Given the description of an element on the screen output the (x, y) to click on. 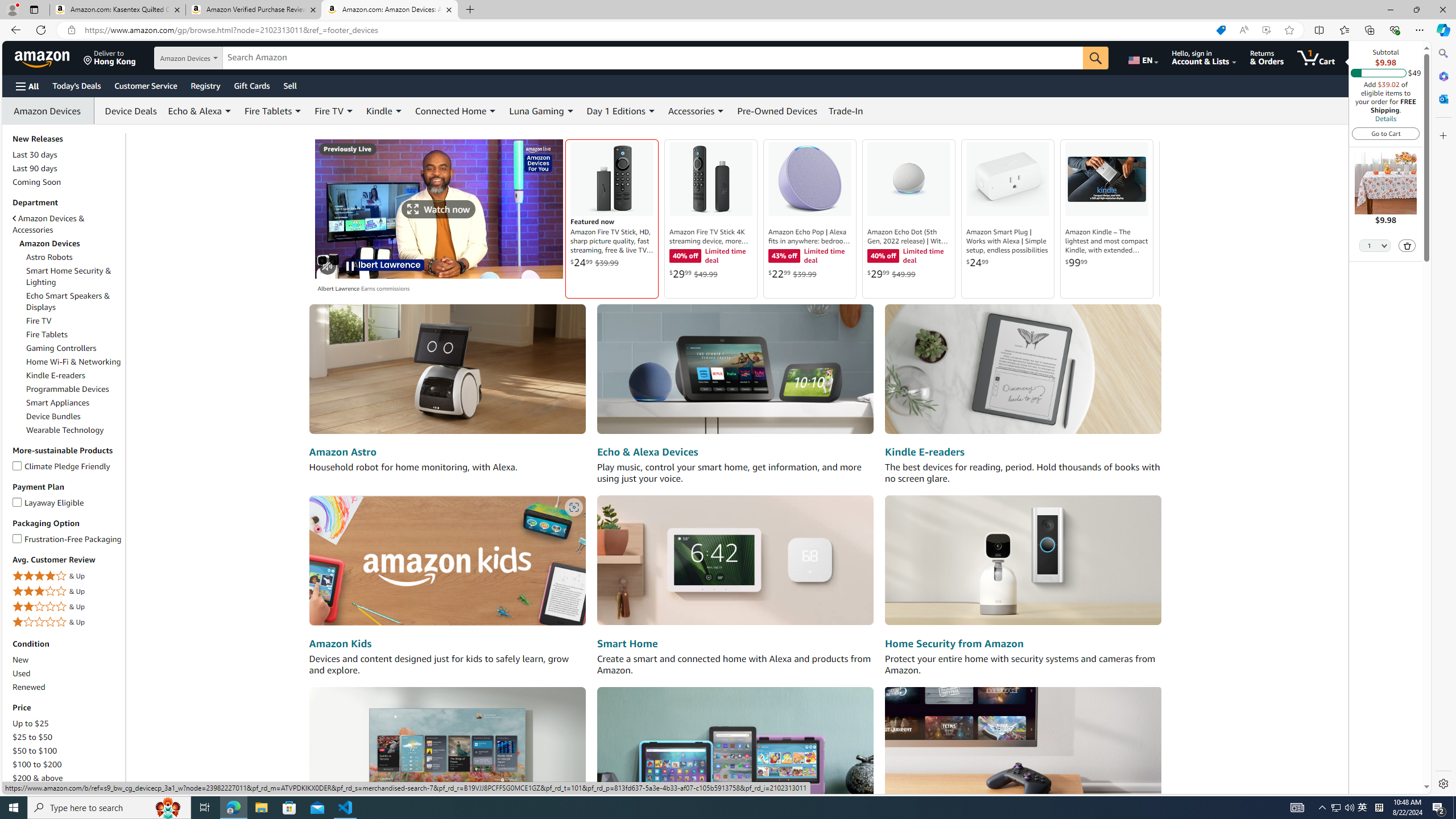
$50 to $100 (67, 750)
Echo Smart Speakers & Displays (68, 301)
Expand Fire TV (349, 111)
1 Star & Up& Up (67, 621)
